Given the description of an element on the screen output the (x, y) to click on. 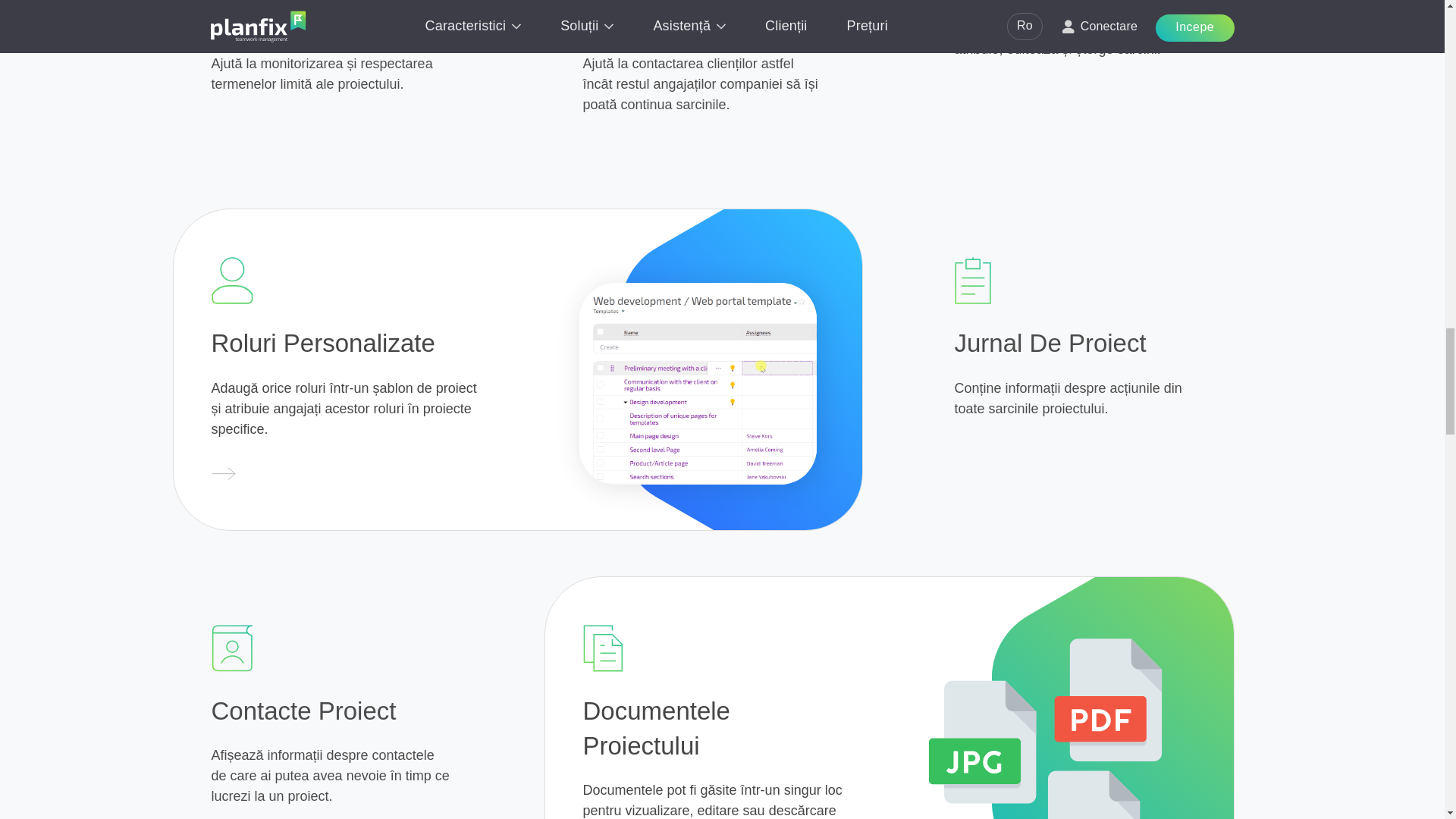
More about Roluri Personalizate (223, 474)
